Given the description of an element on the screen output the (x, y) to click on. 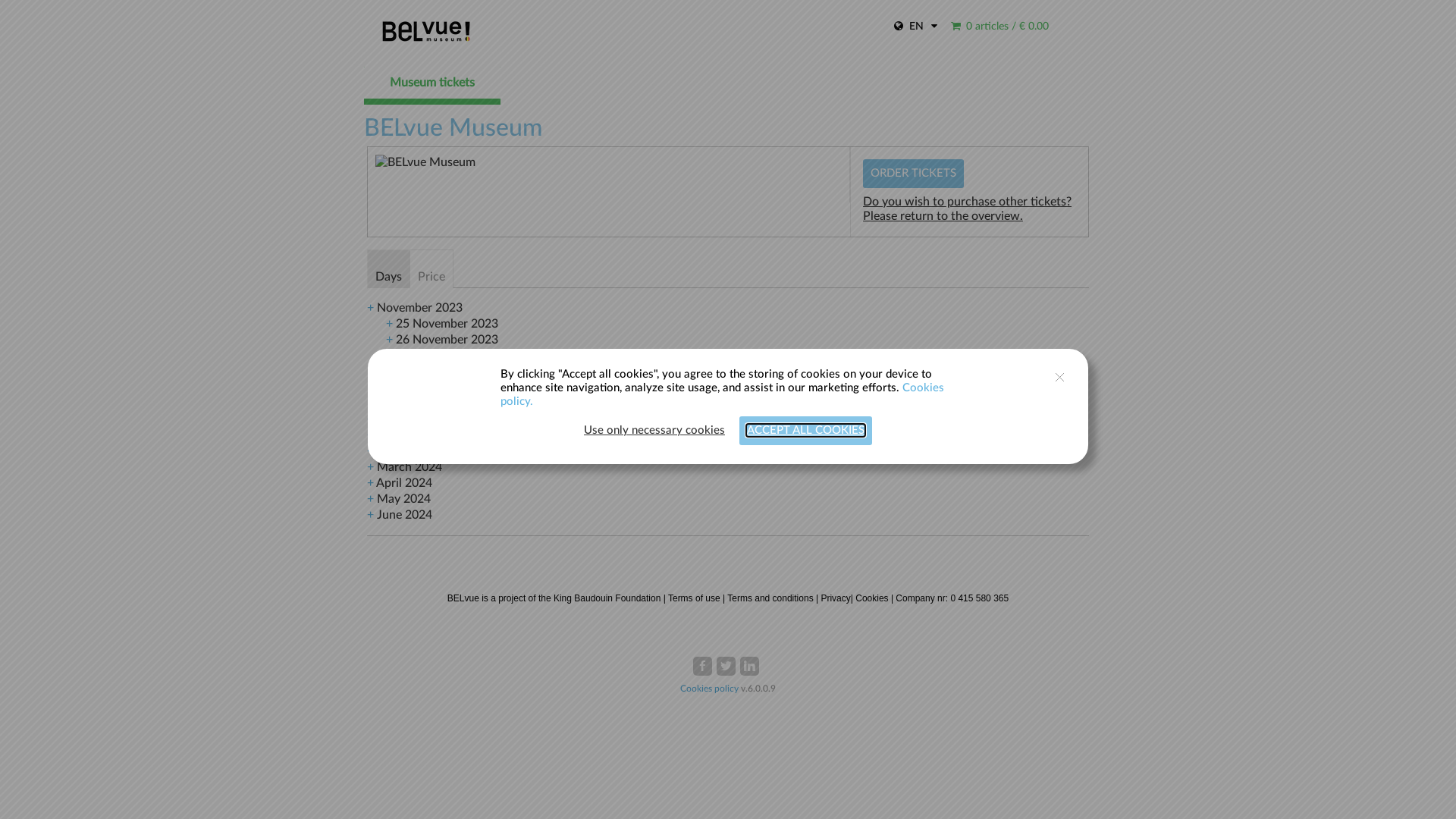
29 November 2023 Element type: text (446, 387)
+ Element type: text (388, 339)
March 2024 Element type: text (409, 467)
Follow us on Facebook Element type: hover (702, 665)
+ Element type: text (370, 514)
April 2024 Element type: text (404, 482)
ORDER TICKETS Element type: text (912, 173)
Price Element type: text (431, 268)
+ Element type: text (388, 371)
Terms and conditions Element type: text (769, 598)
+ Element type: text (388, 323)
Use only necessary cookies Element type: text (653, 430)
Museum tickets Element type: text (432, 83)
June 2024 Element type: text (404, 514)
Terms of use Element type: text (694, 598)
+ Element type: text (370, 451)
EN Element type: text (916, 27)
+ Element type: text (370, 435)
Cookies policy. Element type: text (722, 394)
+ Element type: text (388, 387)
+ Element type: text (388, 355)
+ Element type: text (370, 467)
Cookies policy Element type: text (710, 688)
27 November 2023 Element type: text (446, 355)
Days Element type: text (388, 268)
+ Element type: text (370, 498)
May 2024 Element type: text (403, 498)
King Baudouin Foundation Element type: text (606, 598)
ACCEPT ALL COOKIES Element type: text (805, 430)
26 November 2023 Element type: text (446, 339)
January 2024 Element type: text (412, 435)
25 November 2023 Element type: text (446, 323)
Privacy Element type: text (835, 598)
+ Element type: text (388, 403)
November 2023 Element type: text (419, 307)
+ Element type: text (370, 419)
February 2024 Element type: text (415, 451)
December 2023 Element type: text (418, 419)
+ Element type: text (370, 482)
+ Element type: text (370, 307)
Cookies Element type: text (871, 598)
Follow us on Twitter Element type: hover (724, 665)
Follow us on LinkedIn Element type: hover (749, 665)
30 November 2023 Element type: text (446, 403)
28 November 2023 Element type: text (446, 371)
